Given the description of an element on the screen output the (x, y) to click on. 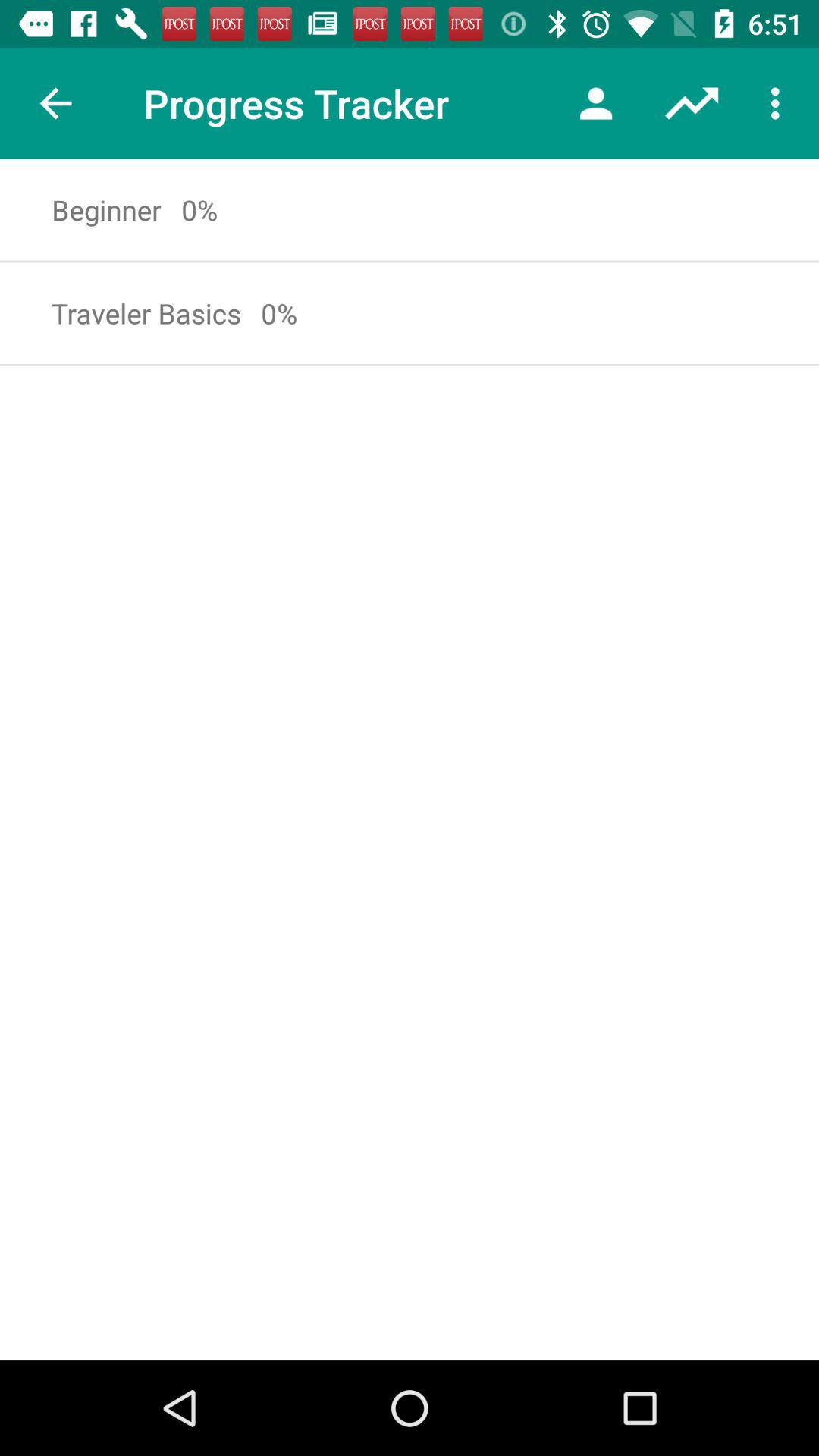
click item next to the progress tracker icon (595, 103)
